Given the description of an element on the screen output the (x, y) to click on. 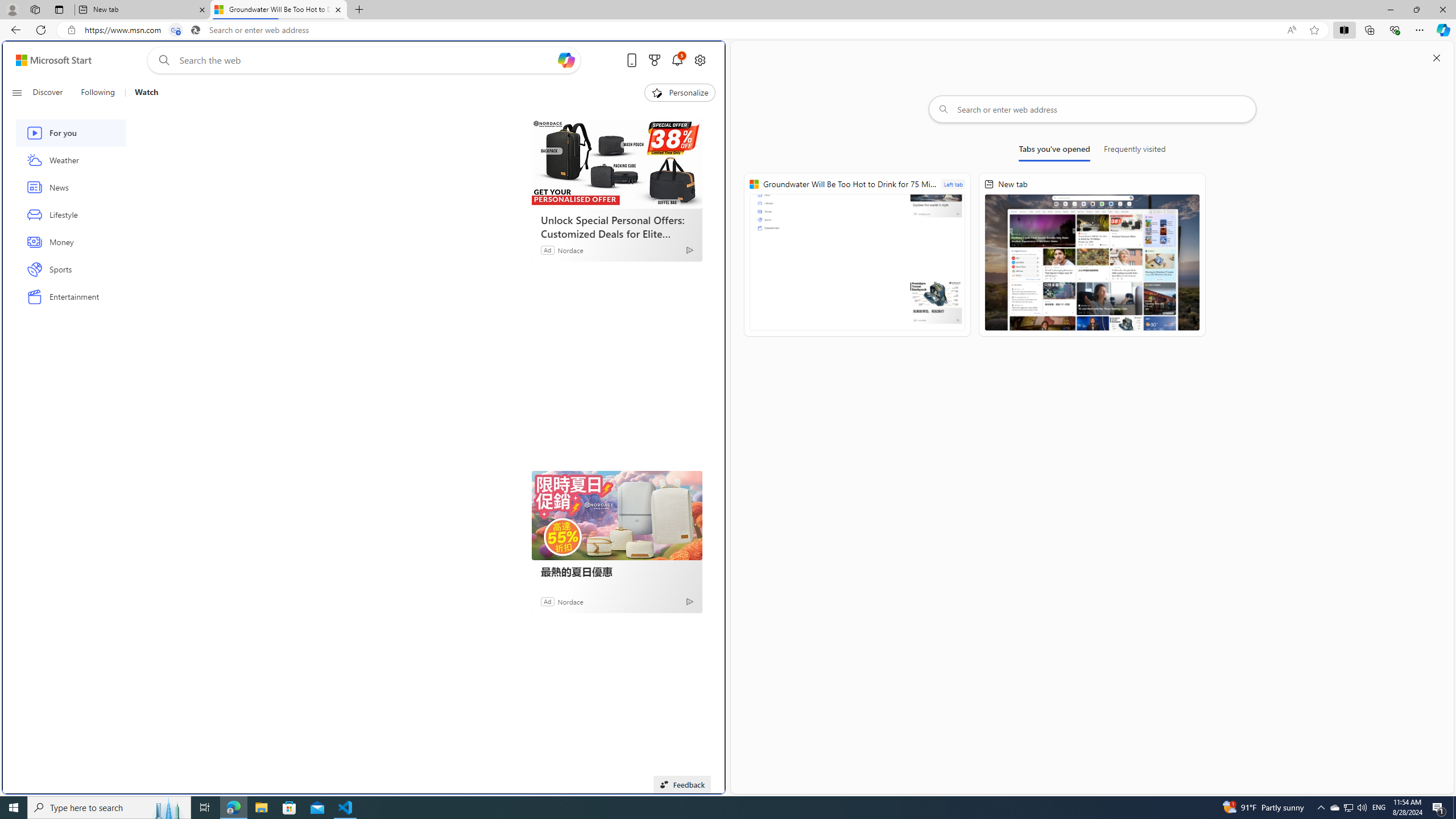
Web search (161, 60)
Enter your search term (366, 59)
Search icon (195, 29)
Open navigation menu (16, 92)
Frequently visited (1134, 151)
